Given the description of an element on the screen output the (x, y) to click on. 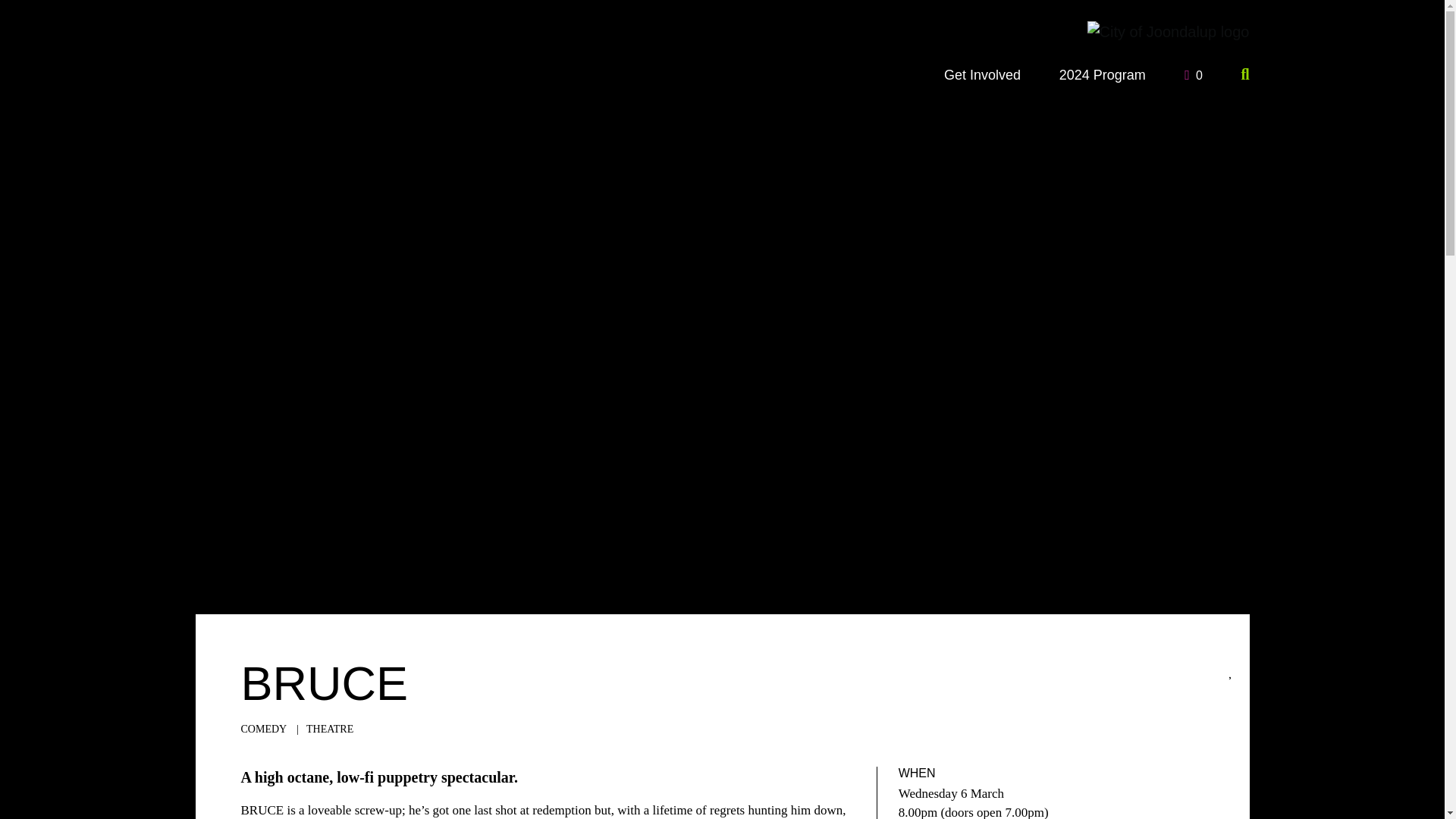
Accessibility Tools (19, 95)
0 (19, 95)
2024 Program (1192, 72)
Accessibility Tools (1101, 74)
Get Involved (19, 95)
Joondalup Festival (981, 74)
